Given the description of an element on the screen output the (x, y) to click on. 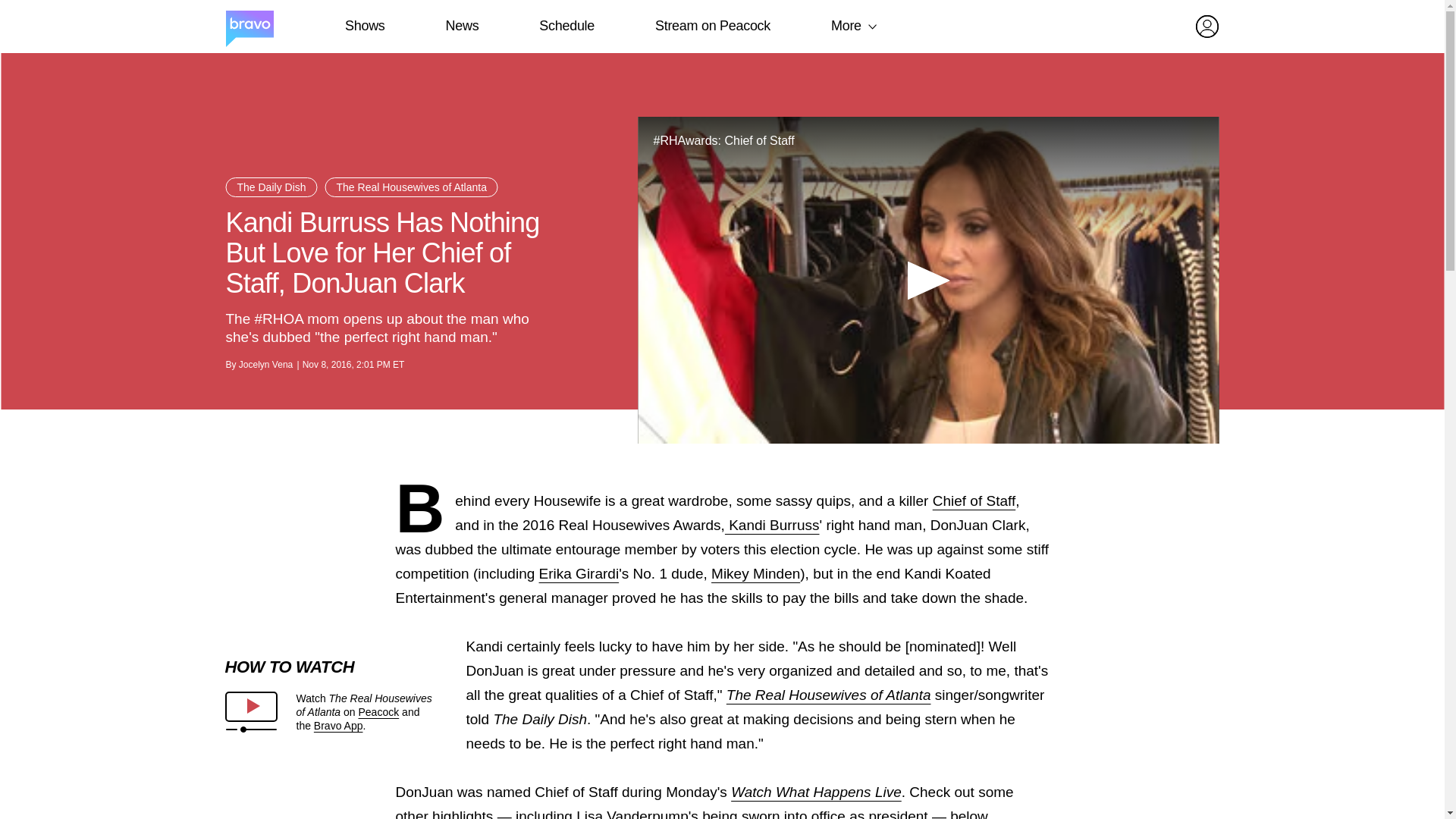
More (846, 26)
Bravo App (338, 725)
The Daily Dish (271, 187)
Stream on Peacock (712, 26)
The Real Housewives of Atlanta (410, 187)
Peacock (378, 711)
Kandi Burruss (772, 524)
Lisa Vanderpump (632, 813)
Chief of Staff (974, 500)
